Given the description of an element on the screen output the (x, y) to click on. 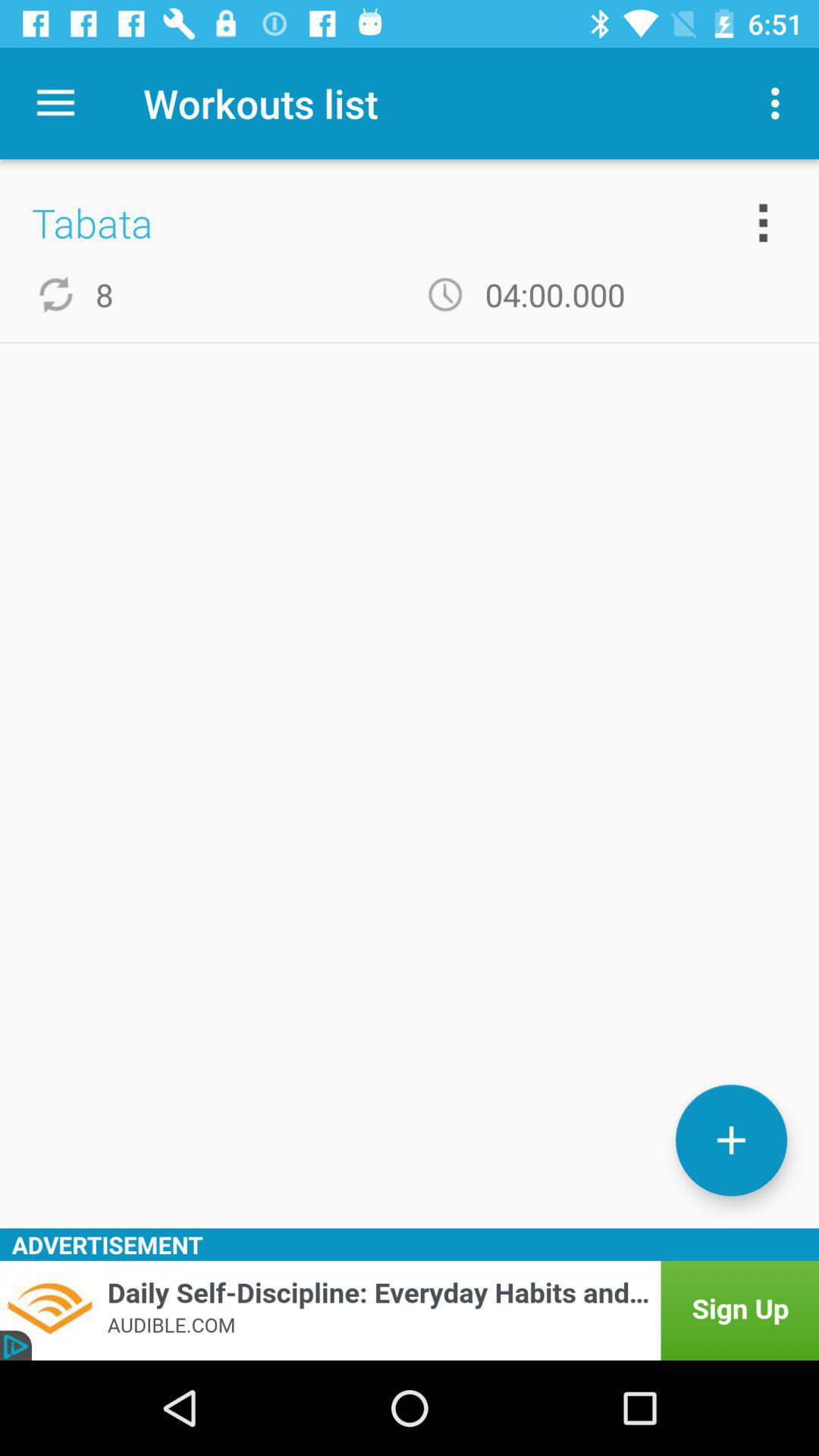
add button (731, 1140)
